Given the description of an element on the screen output the (x, y) to click on. 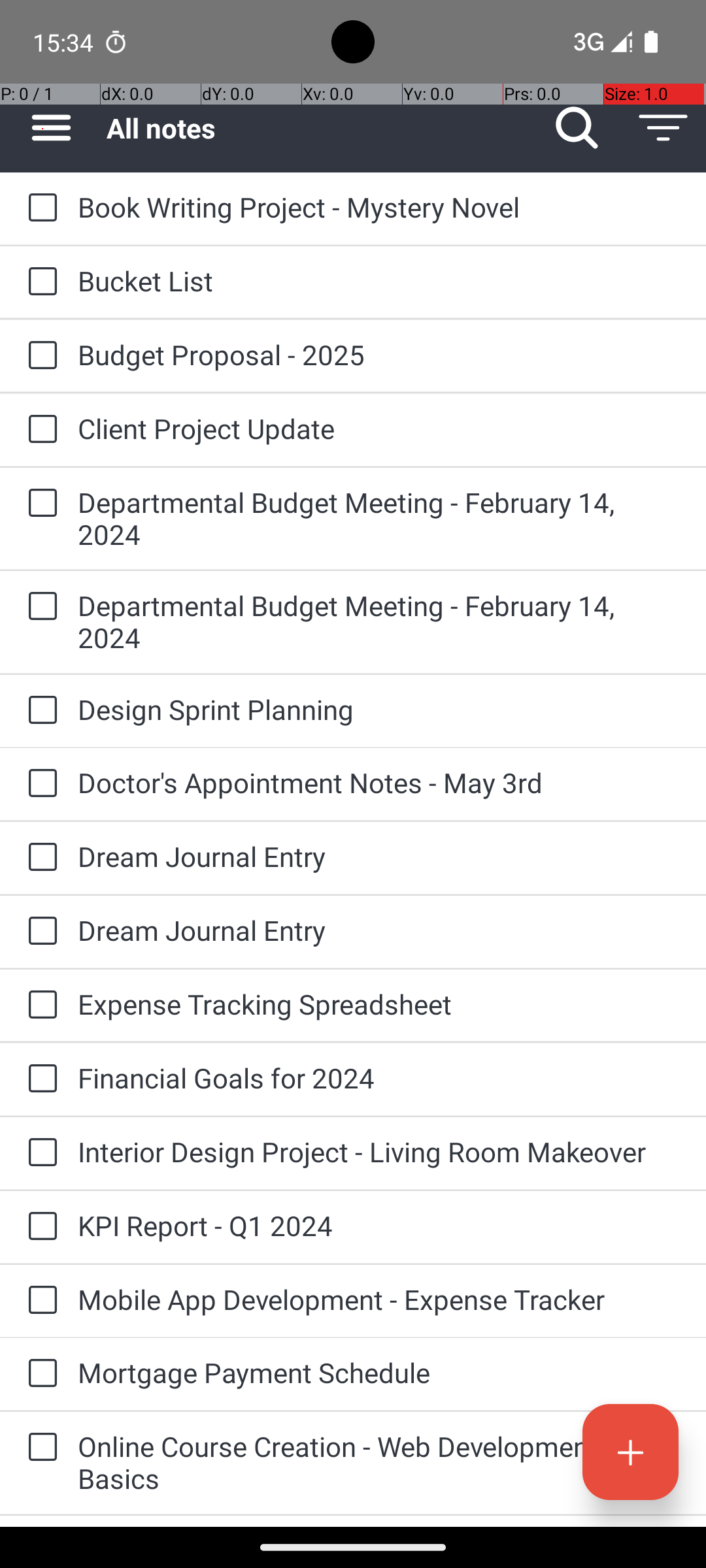
to-do: Book Writing Project - Mystery Novel Element type: android.widget.CheckBox (38, 208)
Book Writing Project - Mystery Novel Element type: android.widget.TextView (378, 206)
to-do: Bucket List Element type: android.widget.CheckBox (38, 282)
Bucket List Element type: android.widget.TextView (378, 280)
to-do: Budget Proposal - 2025 Element type: android.widget.CheckBox (38, 356)
Budget Proposal - 2025 Element type: android.widget.TextView (378, 354)
to-do: Client Project Update Element type: android.widget.CheckBox (38, 429)
Client Project Update Element type: android.widget.TextView (378, 427)
to-do: Departmental Budget Meeting - February 14, 2024 Element type: android.widget.CheckBox (38, 503)
Departmental Budget Meeting - February 14, 2024 Element type: android.widget.TextView (378, 517)
to-do: Doctor's Appointment Notes - May 3rd Element type: android.widget.CheckBox (38, 783)
Doctor's Appointment Notes - May 3rd Element type: android.widget.TextView (378, 781)
to-do: Dream Journal Entry Element type: android.widget.CheckBox (38, 857)
Dream Journal Entry Element type: android.widget.TextView (378, 855)
to-do: Expense Tracking Spreadsheet Element type: android.widget.CheckBox (38, 1005)
to-do: Financial Goals for 2024 Element type: android.widget.CheckBox (38, 1079)
Financial Goals for 2024 Element type: android.widget.TextView (378, 1077)
to-do: Interior Design Project - Living Room Makeover Element type: android.widget.CheckBox (38, 1153)
Interior Design Project - Living Room Makeover Element type: android.widget.TextView (378, 1151)
to-do: KPI Report - Q1 2024 Element type: android.widget.CheckBox (38, 1226)
KPI Report - Q1 2024 Element type: android.widget.TextView (378, 1224)
to-do: Mobile App Development - Expense Tracker Element type: android.widget.CheckBox (38, 1300)
Mobile App Development - Expense Tracker Element type: android.widget.TextView (378, 1298)
to-do: Mortgage Payment Schedule Element type: android.widget.CheckBox (38, 1373)
Mortgage Payment Schedule Element type: android.widget.TextView (378, 1371)
to-do: Packing List - Beach Vacation Element type: android.widget.CheckBox (38, 1520)
